Given the description of an element on the screen output the (x, y) to click on. 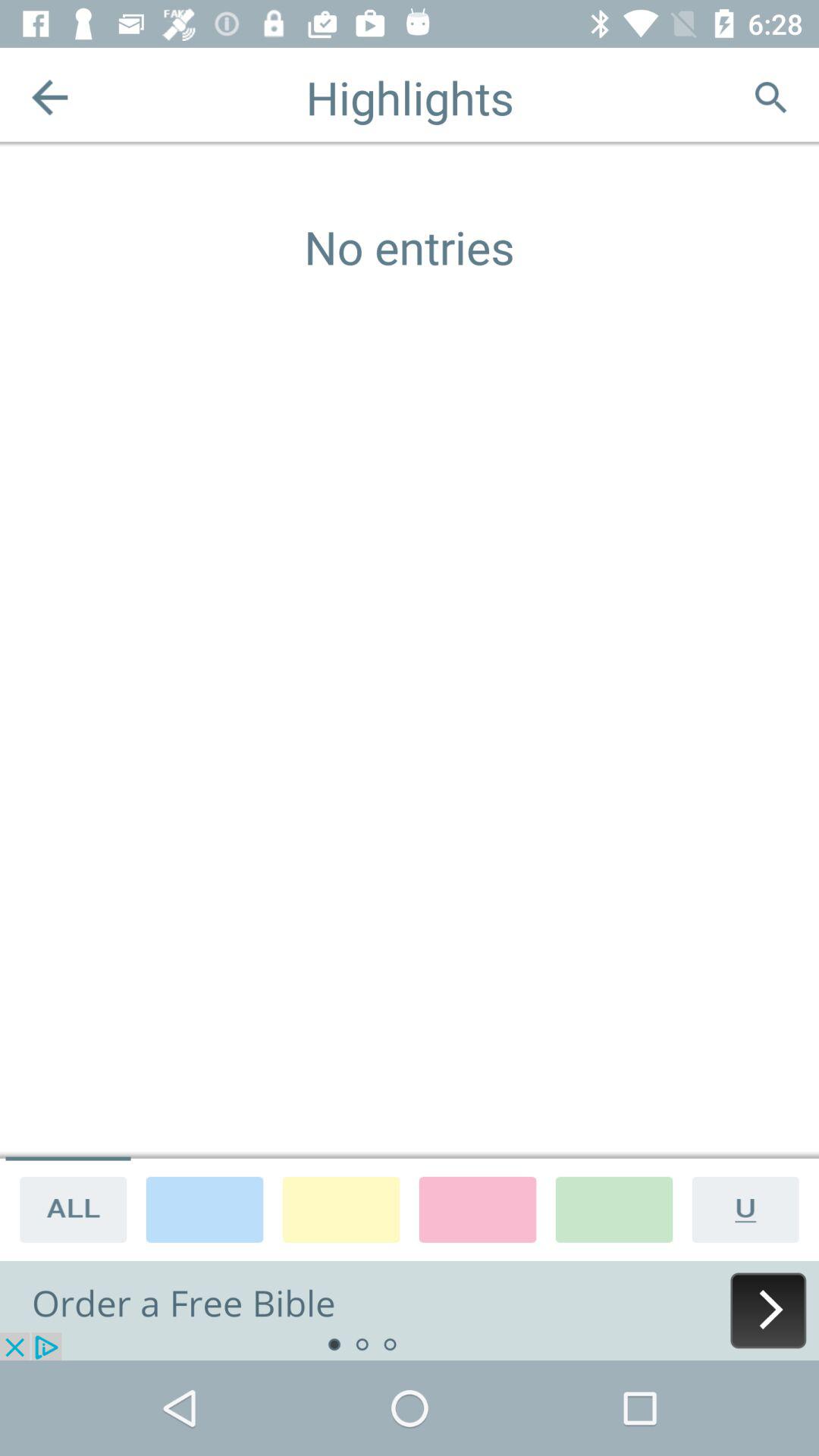
colour (614, 1208)
